Given the description of an element on the screen output the (x, y) to click on. 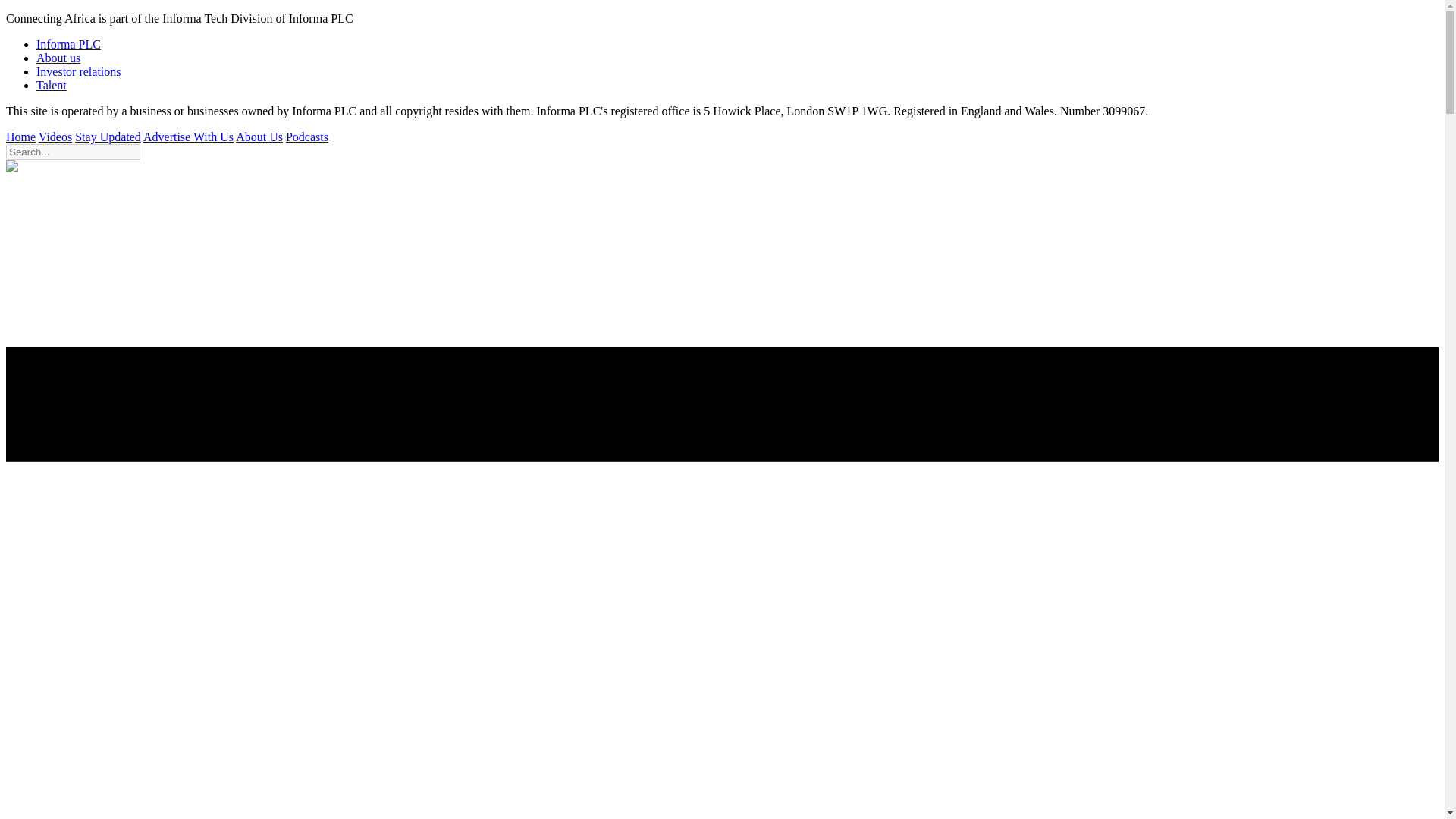
Stay Updated (108, 136)
Videos (55, 136)
Investor relations (78, 71)
Go to Informa website (68, 43)
Home (19, 136)
Advertise With Us (187, 136)
Podcasts (307, 136)
Learn more about Informa's Investor relations (78, 71)
About us (58, 57)
Learn more about Informa (58, 57)
